Given the description of an element on the screen output the (x, y) to click on. 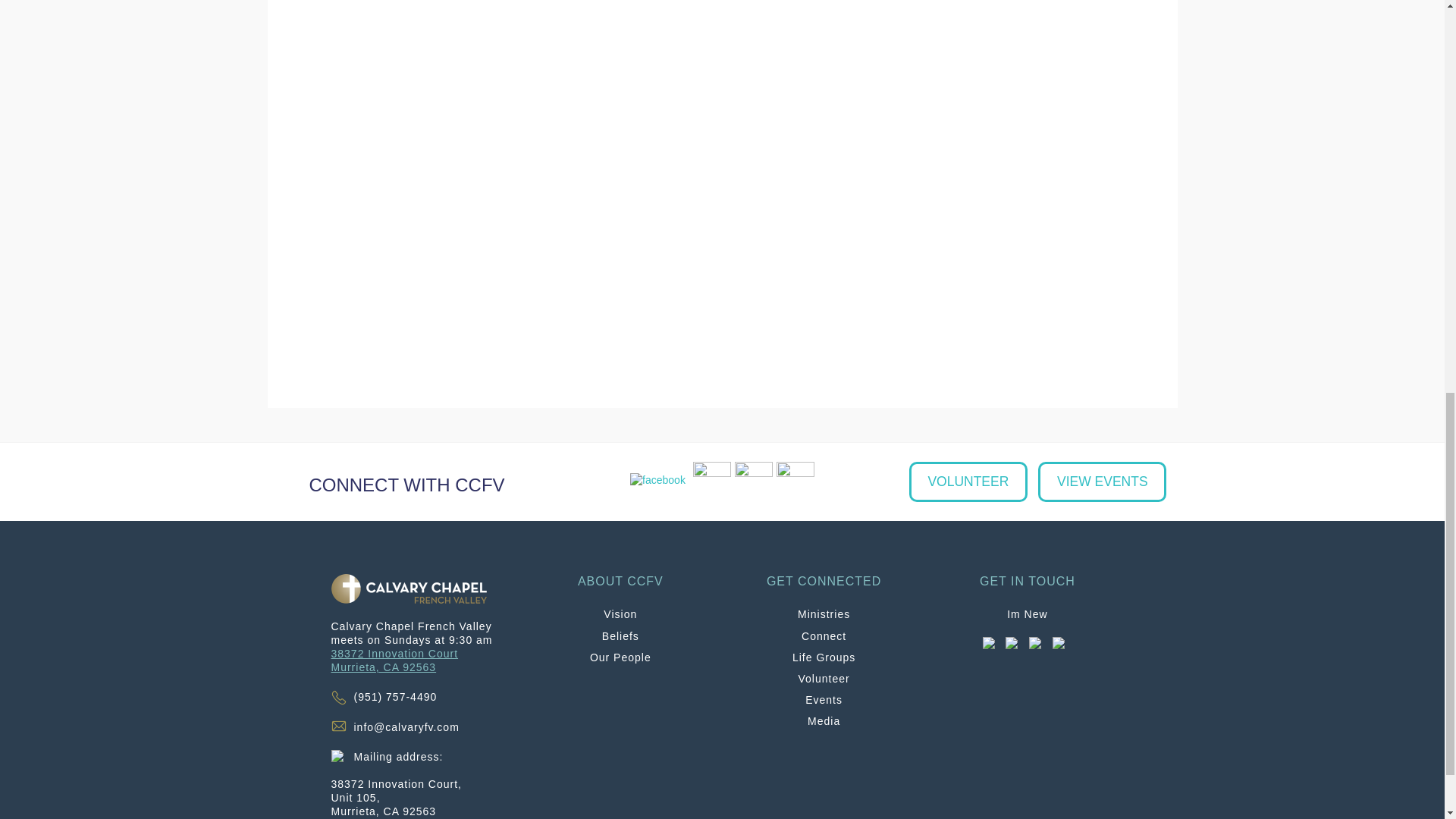
Volunteer (823, 678)
Vision (620, 613)
Beliefs (620, 635)
Ministries (823, 613)
Life Groups (824, 657)
VIEW EVENTS (1102, 481)
VOLUNTEER (967, 481)
Connect (394, 660)
Our People (823, 635)
